Given the description of an element on the screen output the (x, y) to click on. 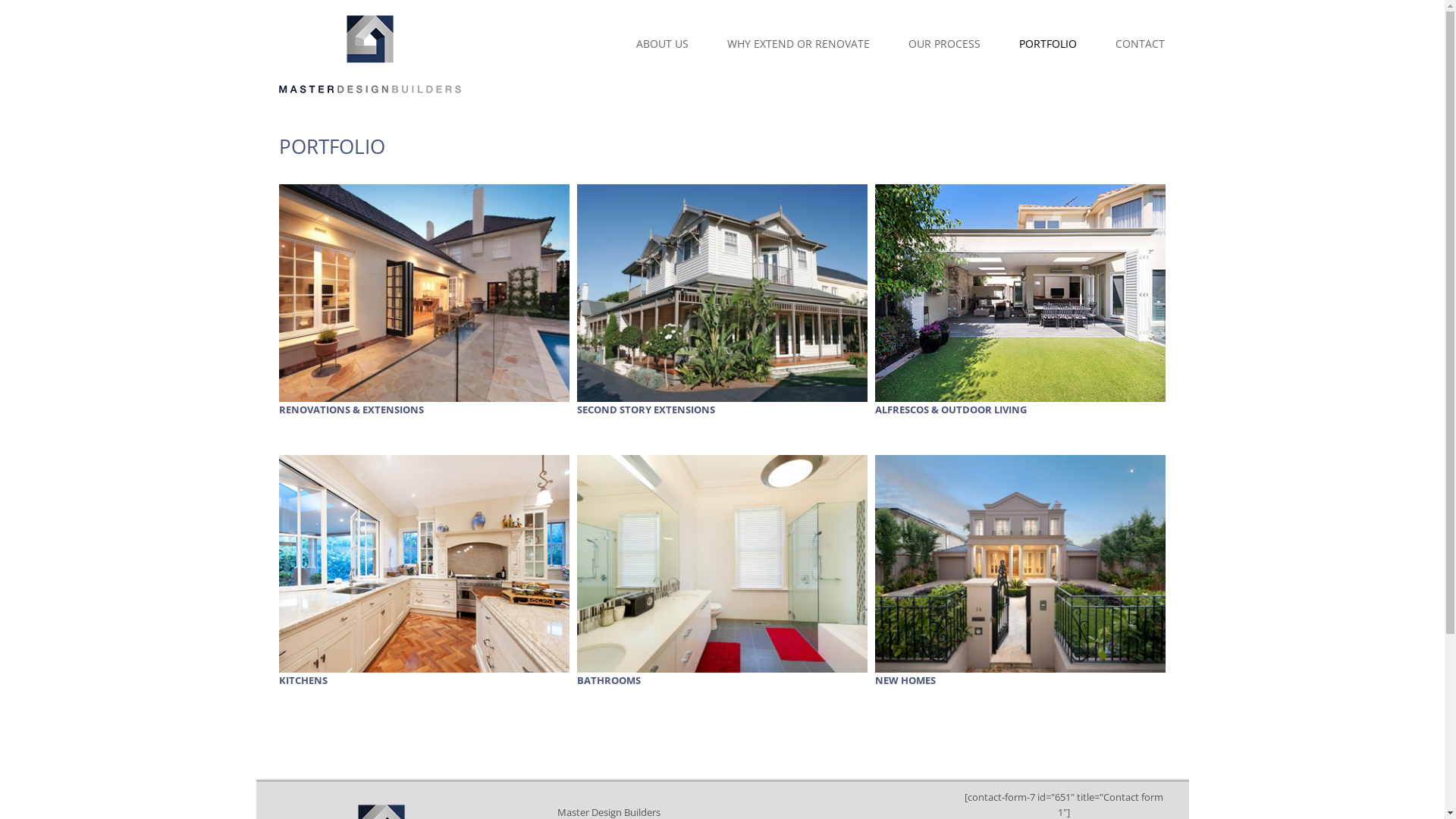
OUR PROCESS Element type: text (924, 44)
WHY EXTEND OR RENOVATE Element type: text (778, 44)
PORTFOLIO Element type: text (1027, 44)
CONTACT Element type: text (1120, 44)
ABOUT US Element type: text (642, 44)
